Given the description of an element on the screen output the (x, y) to click on. 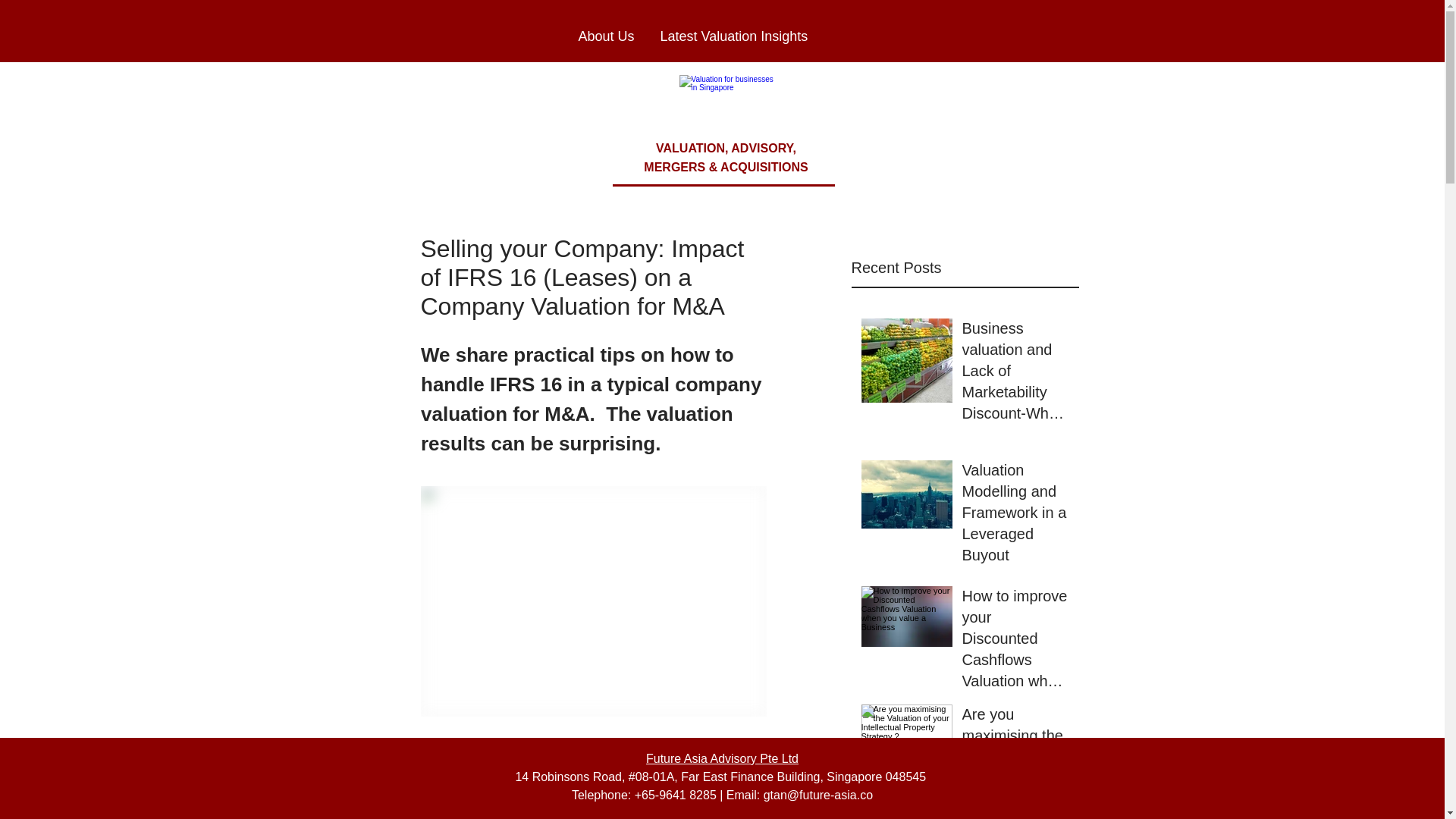
Future.png (728, 105)
Future Asia Advisory Pte Ltd (721, 758)
Valuation Modelling and Framework in a Leveraged Buyout (1014, 515)
Latest Valuation Insights (738, 36)
About Us (608, 36)
